Given the description of an element on the screen output the (x, y) to click on. 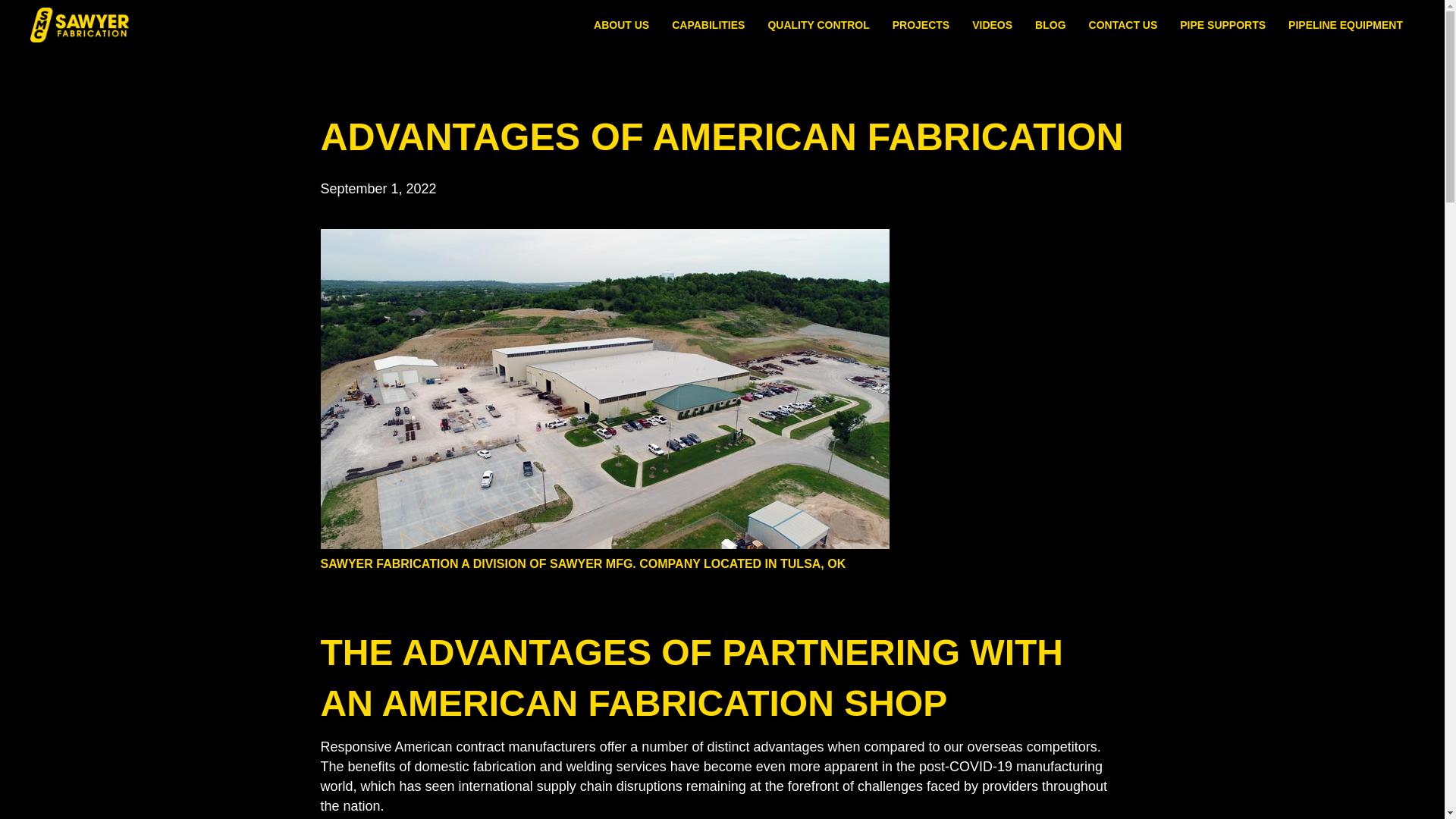
VIDEOS (991, 24)
CAPABILITIES (707, 24)
QUALITY CONTROL (818, 24)
ABOUT US (621, 24)
CONTACT US (1123, 24)
PIPE SUPPORTS (1222, 24)
PROJECTS (920, 24)
PIPELINE EQUIPMENT (1345, 24)
BLOG (1050, 24)
